Given the description of an element on the screen output the (x, y) to click on. 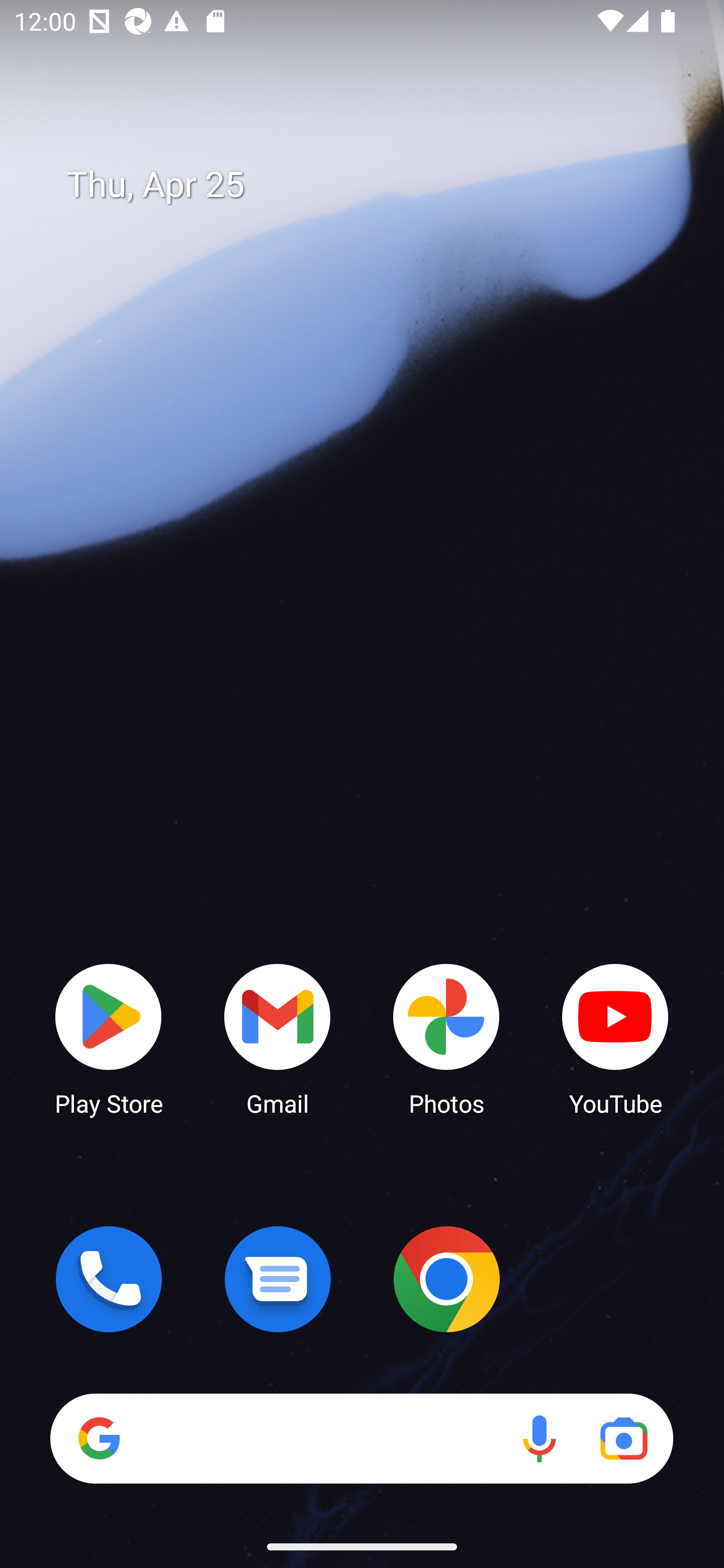
Thu, Apr 25 (375, 184)
Play Store (108, 1038)
Gmail (277, 1038)
Photos (445, 1038)
YouTube (615, 1038)
Phone (108, 1279)
Messages (277, 1279)
Chrome (446, 1279)
Search Voice search Google Lens (361, 1438)
Voice search (539, 1438)
Google Lens (623, 1438)
